Given the description of an element on the screen output the (x, y) to click on. 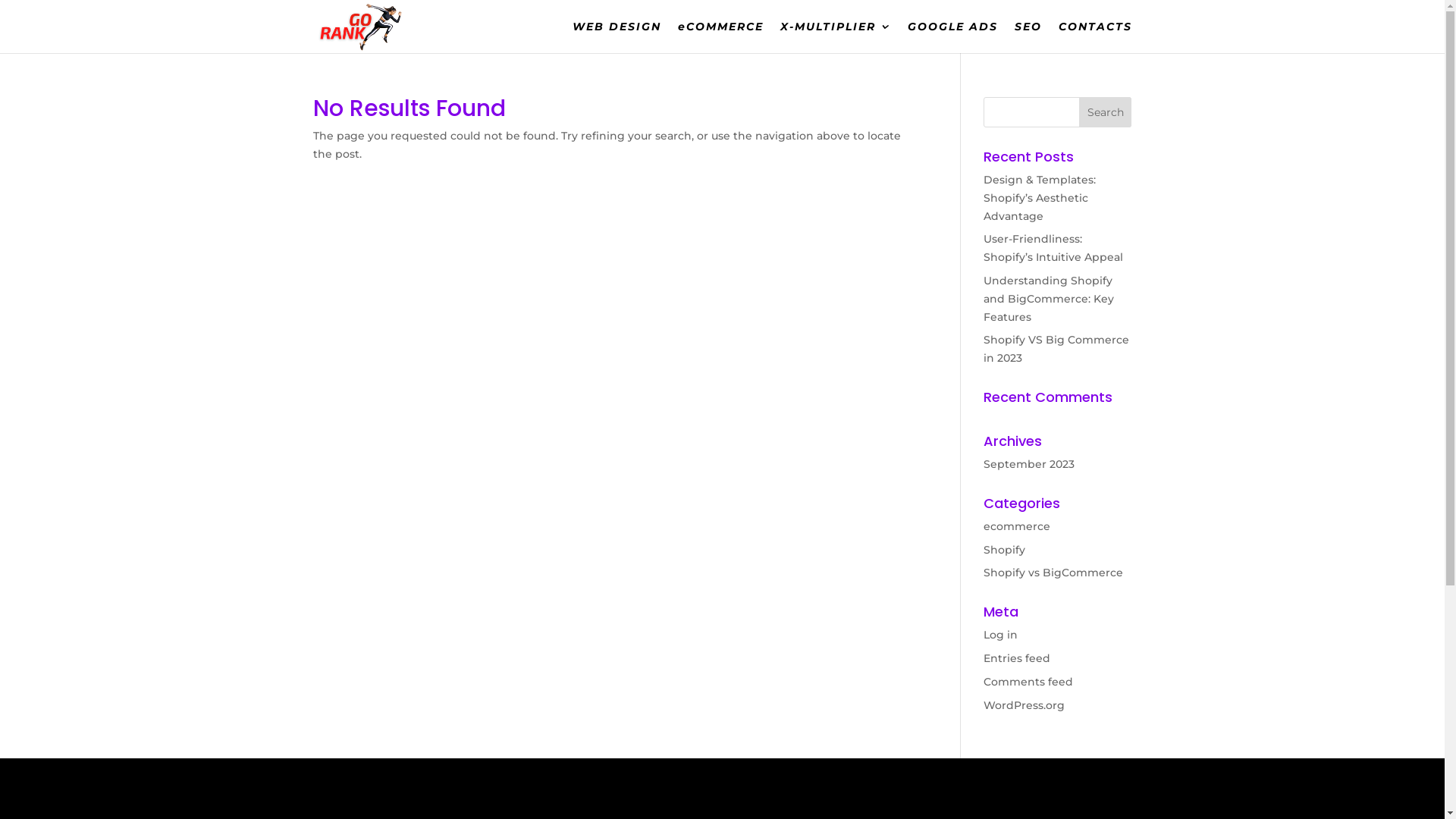
Understanding Shopify and BigCommerce: Key Features Element type: text (1048, 298)
SEO Element type: text (1027, 37)
Shopify VS Big Commerce in 2023 Element type: text (1056, 348)
Log in Element type: text (1000, 634)
WordPress.org Element type: text (1023, 705)
Shopify Element type: text (1004, 549)
GOOGLE ADS Element type: text (951, 37)
September 2023 Element type: text (1028, 463)
CONTACTS Element type: text (1095, 37)
eCOMMERCE Element type: text (720, 37)
Comments feed Element type: text (1028, 681)
WEB DESIGN Element type: text (615, 37)
ecommerce Element type: text (1016, 526)
Search Element type: text (1105, 112)
Entries feed Element type: text (1016, 658)
X-MULTIPLIER Element type: text (834, 37)
Shopify vs BigCommerce Element type: text (1053, 572)
